Given the description of an element on the screen output the (x, y) to click on. 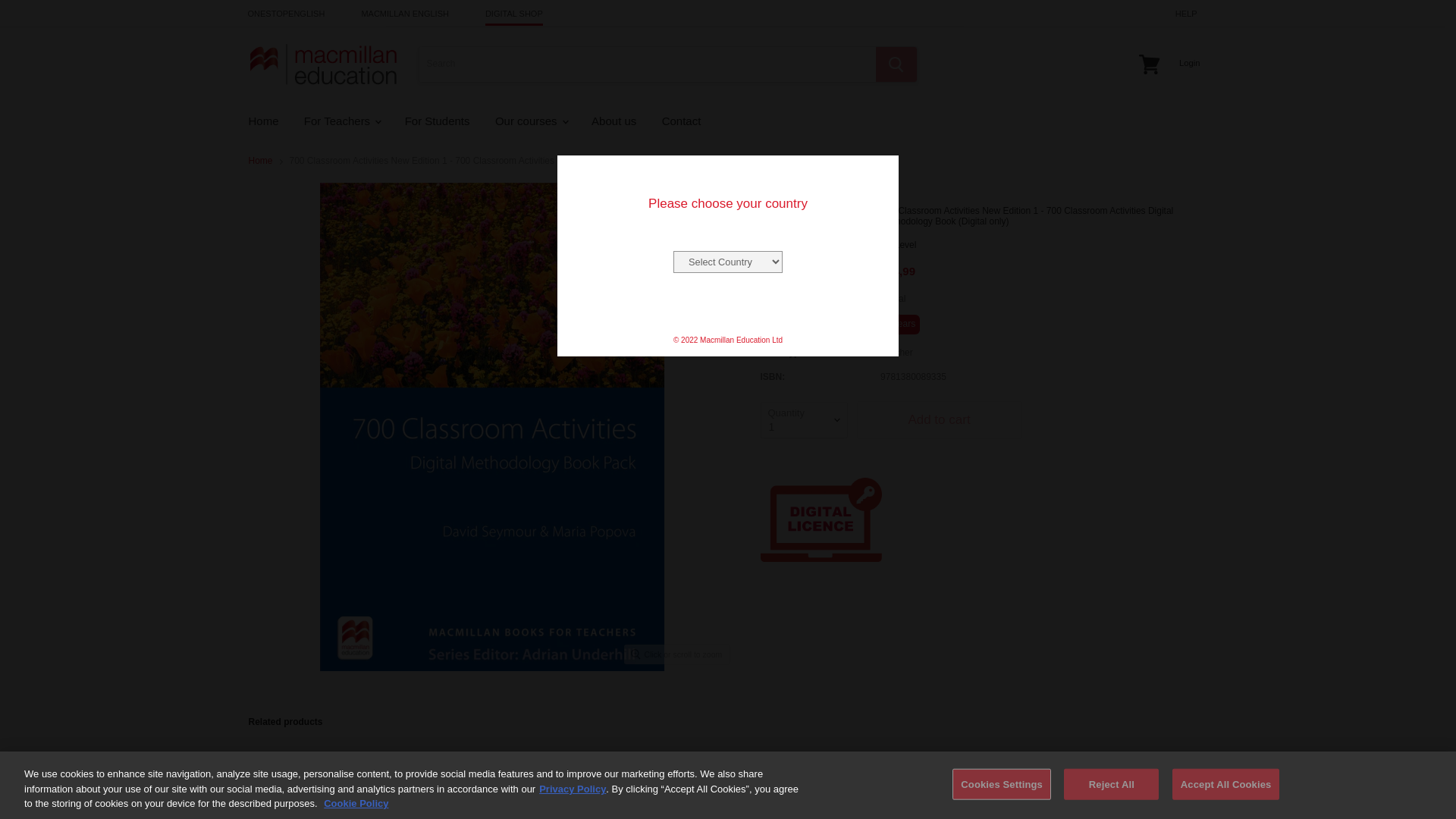
ONESTOPENGLISH (285, 13)
Our courses (530, 121)
Home (262, 121)
Login (1189, 62)
View cart (1149, 63)
DIGITAL SHOP (513, 13)
For Teachers (341, 121)
MACMILLAN ENGLISH (404, 13)
For Students (437, 121)
HELP (1185, 13)
